Given the description of an element on the screen output the (x, y) to click on. 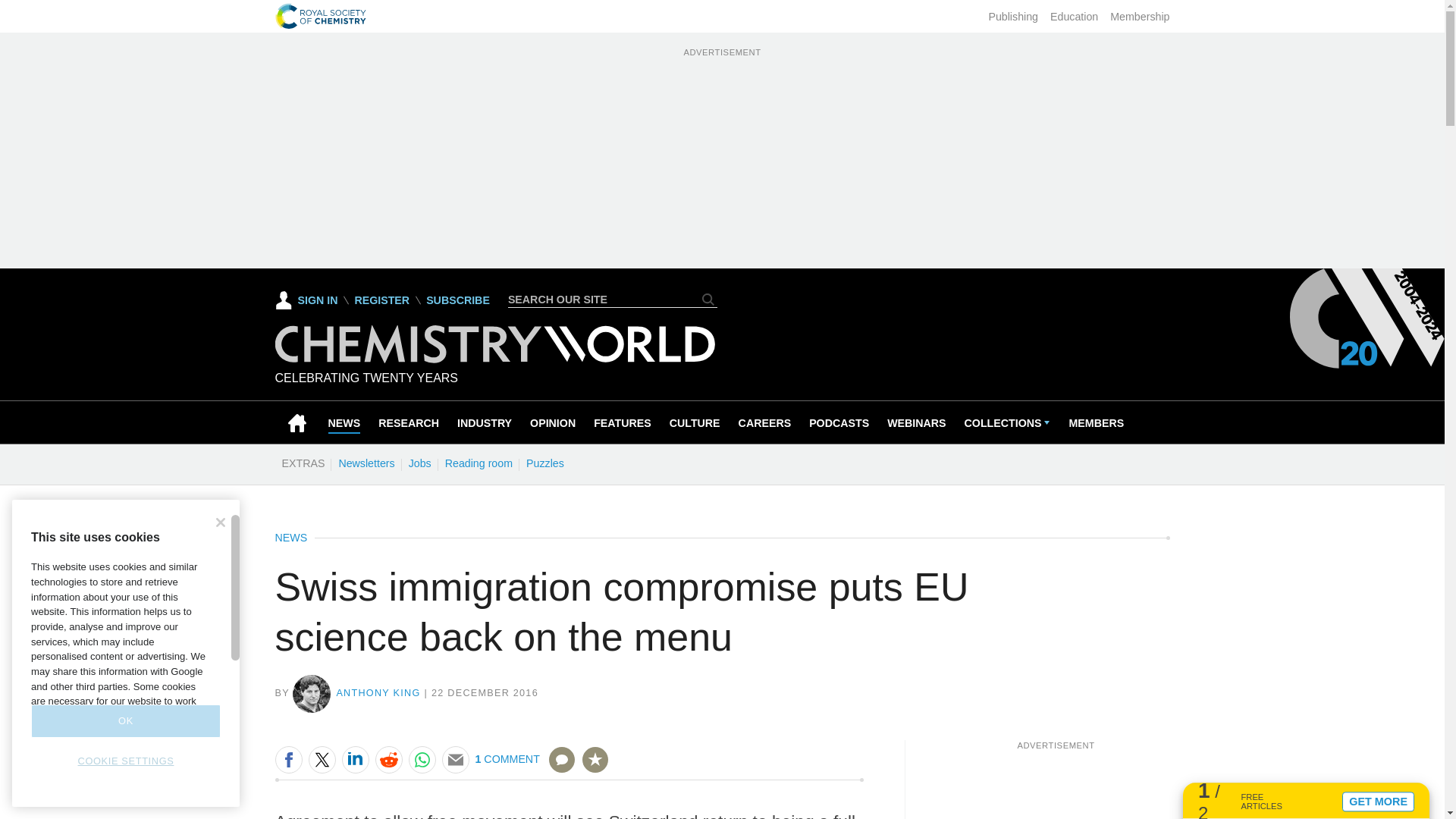
Chemistry World (494, 343)
Newsletters (366, 463)
Share this by email (454, 759)
Chemistry World (494, 358)
1 COMMENT (524, 768)
Share this on WhatsApp (421, 759)
Share this on Facebook (288, 759)
Reading room (478, 463)
SEARCH (708, 299)
Education (1073, 16)
Share this on LinkedIn (354, 759)
SIGN IN (306, 300)
Publishing (1013, 16)
3rd party ad content (1055, 785)
